Given the description of an element on the screen output the (x, y) to click on. 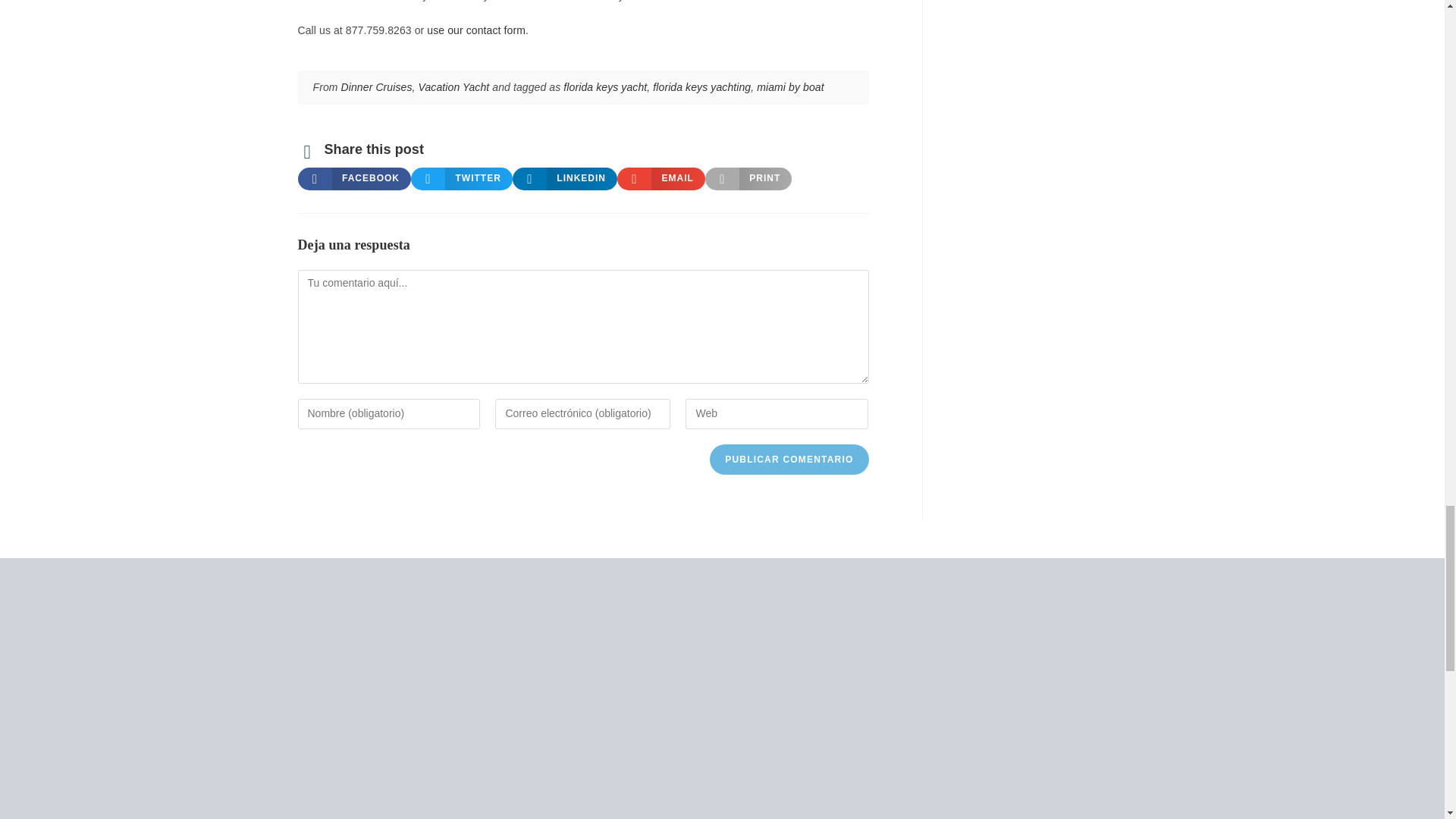
Publicar comentario (788, 459)
Contact Us (475, 30)
